Given the description of an element on the screen output the (x, y) to click on. 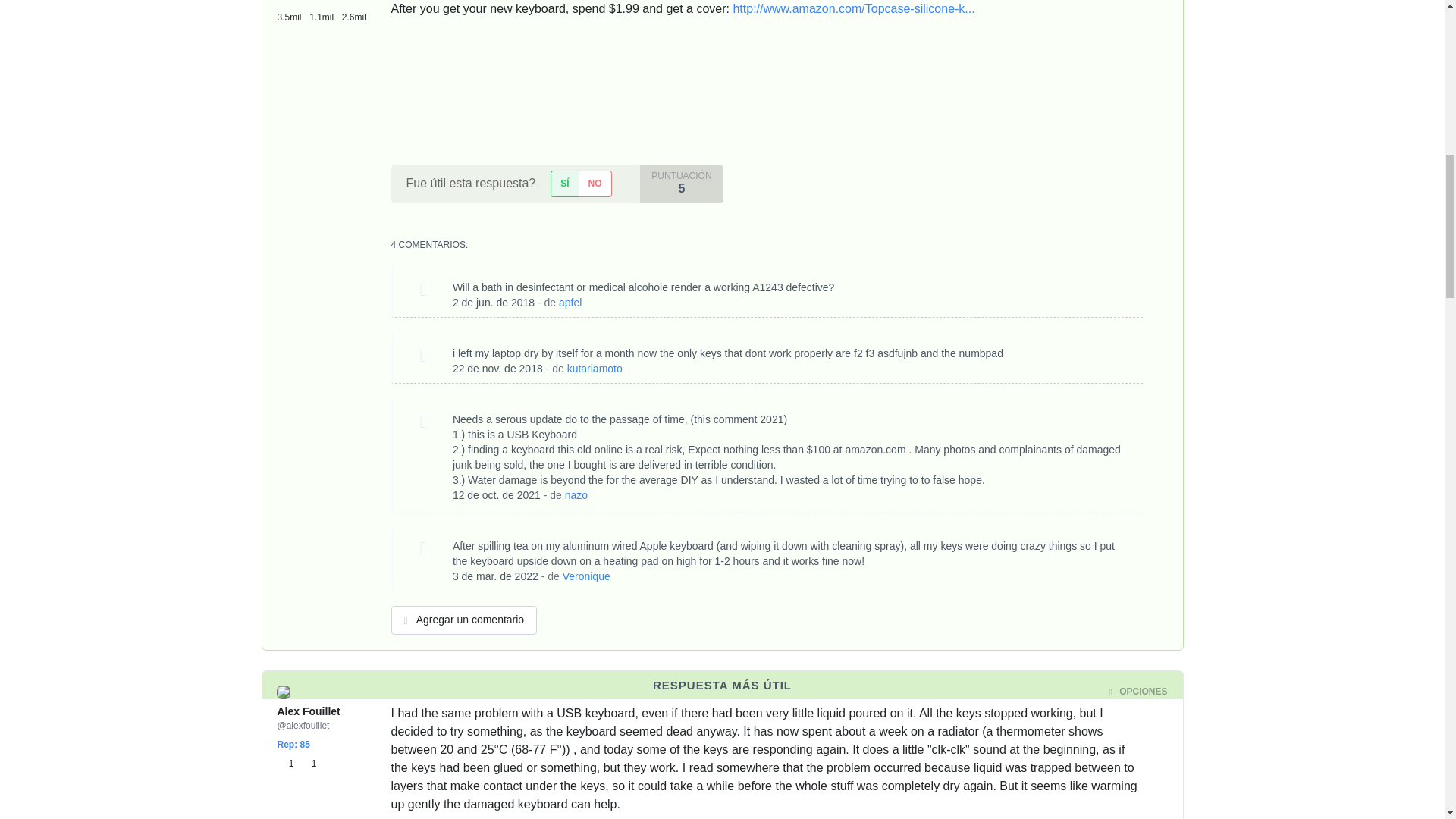
Thu, 22 Nov 2018 06:32:42 -0700 (497, 368)
Tue, 12 Oct 2021 16:43:33 -0700 (496, 494)
Thu, 03 Mar 2022 17:47:48 -0700 (495, 576)
3507 insignias de Bronce (294, 12)
Sat, 02 Jun 2018 10:48:44 -0700 (493, 302)
1131 insignias de Plata (325, 12)
2638 insignias de Oro (355, 12)
